Given the description of an element on the screen output the (x, y) to click on. 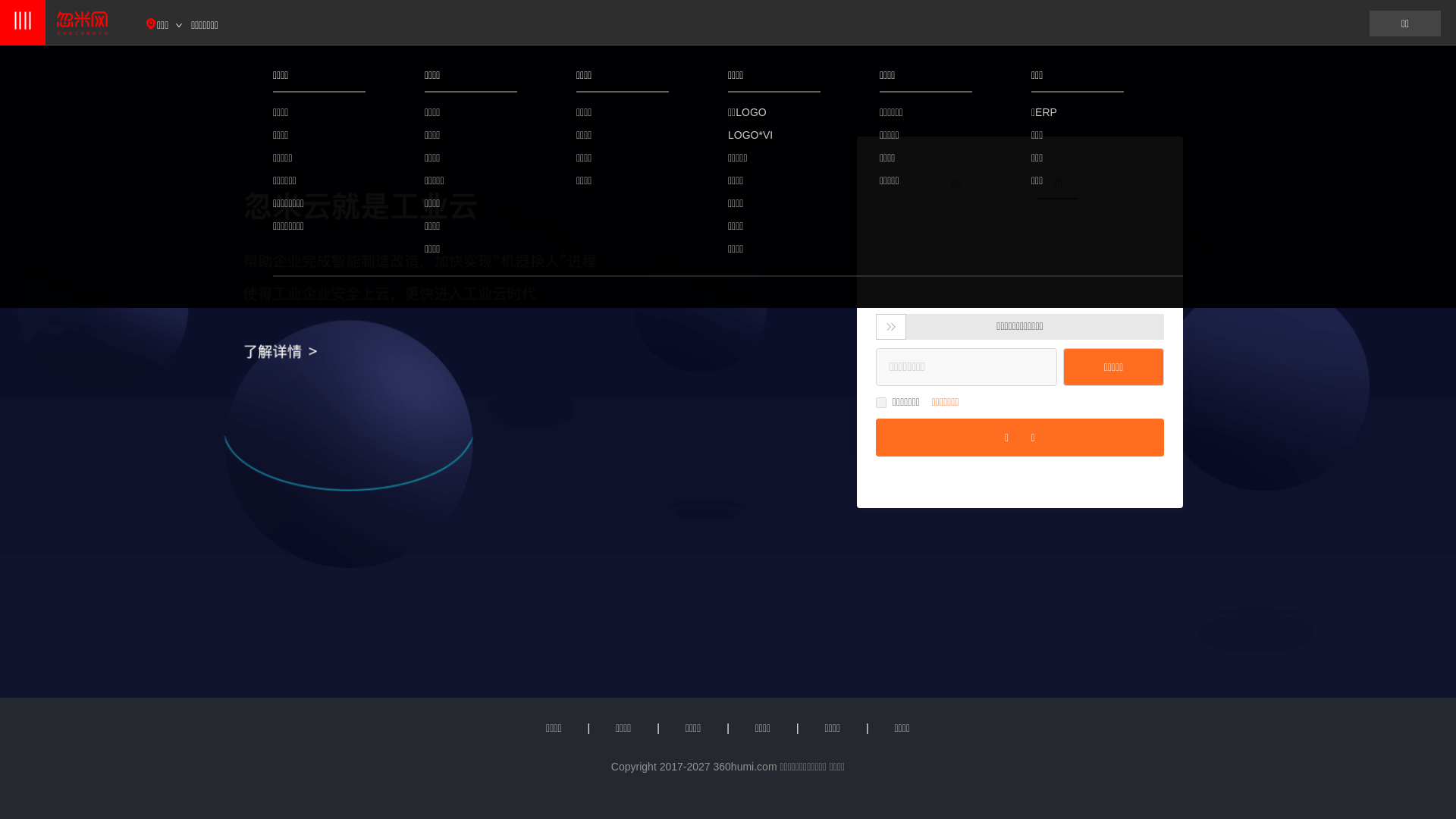
LOGO*VI Element type: text (774, 134)
